Given the description of an element on the screen output the (x, y) to click on. 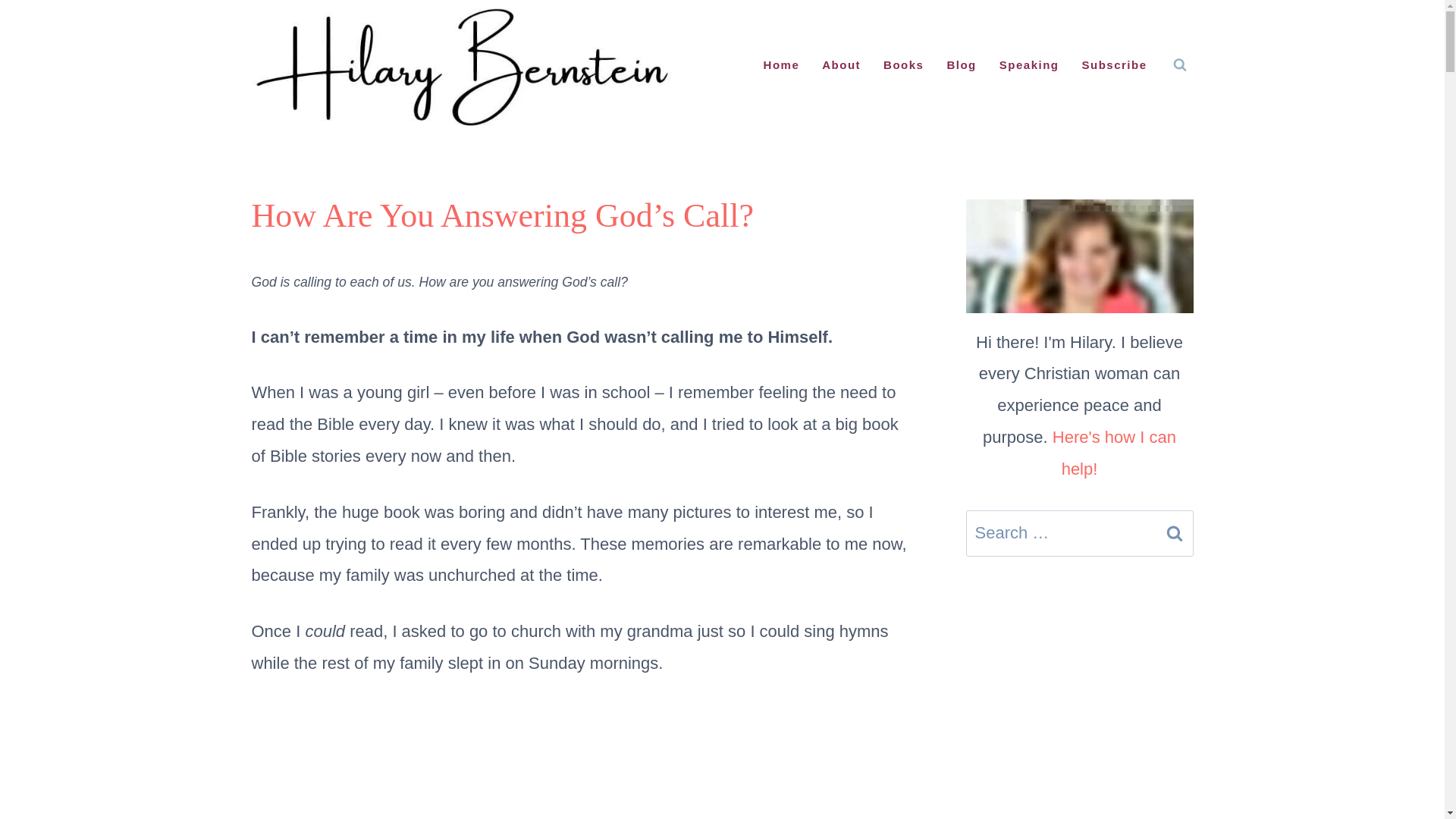
Speaking (1029, 64)
Home (781, 64)
Books (903, 64)
Blog (960, 64)
Subscribe (1113, 64)
About (841, 64)
